Given the description of an element on the screen output the (x, y) to click on. 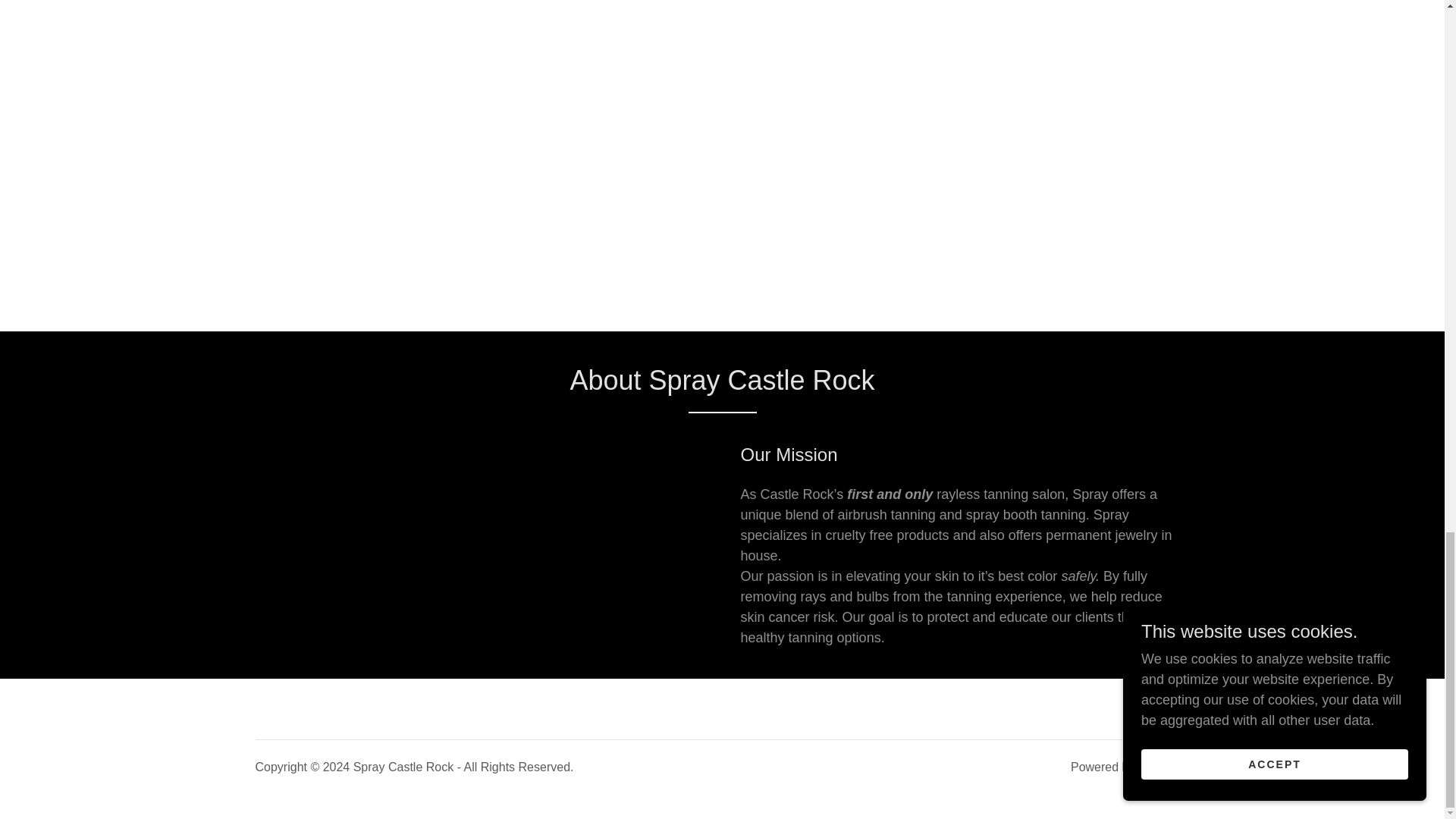
GoDaddy (1163, 766)
